Given the description of an element on the screen output the (x, y) to click on. 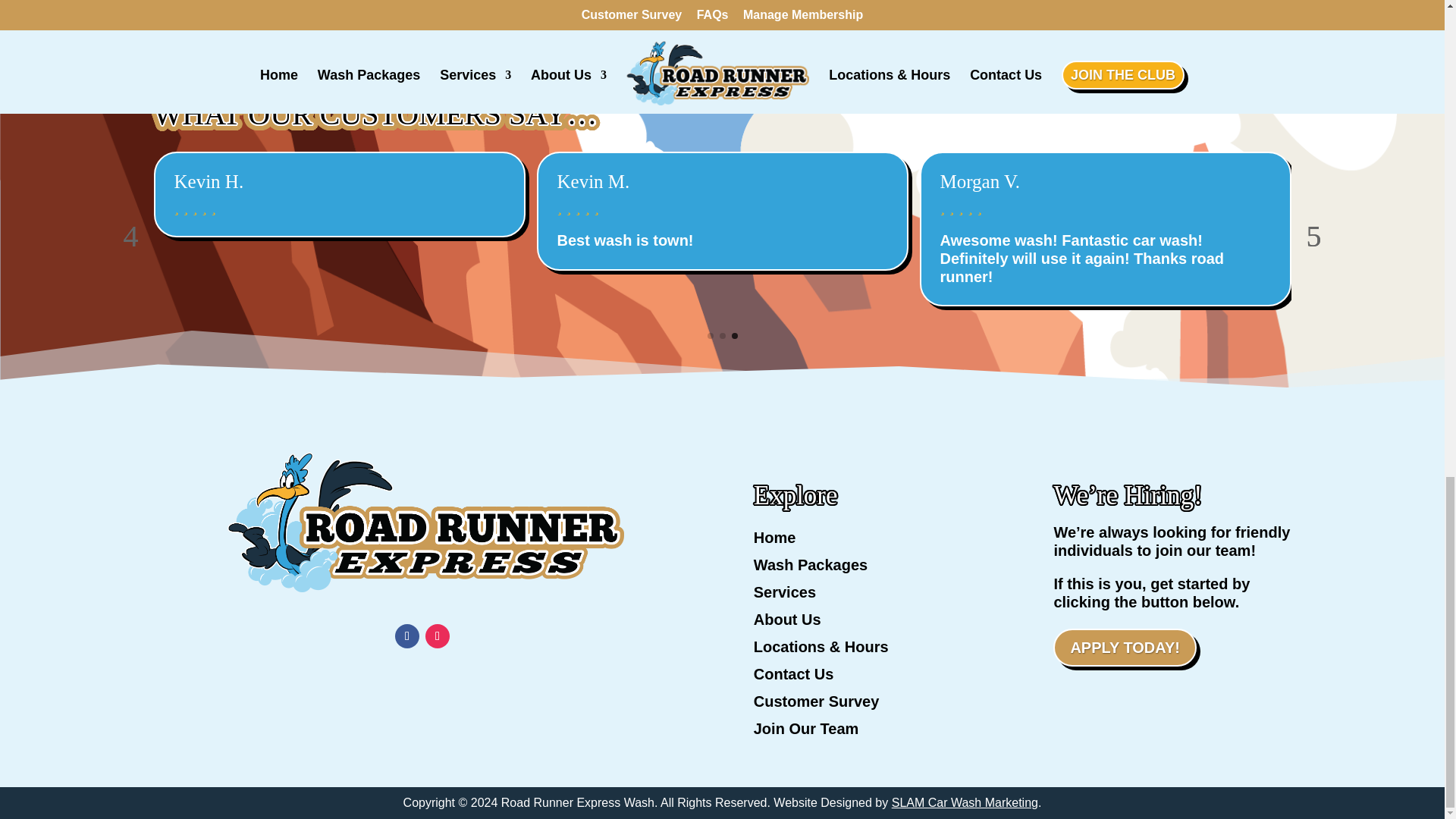
Follow on Facebook (406, 636)
Wash Packages (872, 567)
Join Our Team (872, 731)
Home (872, 540)
Follow on Instagram (437, 636)
Services (872, 595)
Customer Survey (872, 704)
road-runner-logo (422, 519)
Contact Us (872, 677)
About Us (872, 622)
